Given the description of an element on the screen output the (x, y) to click on. 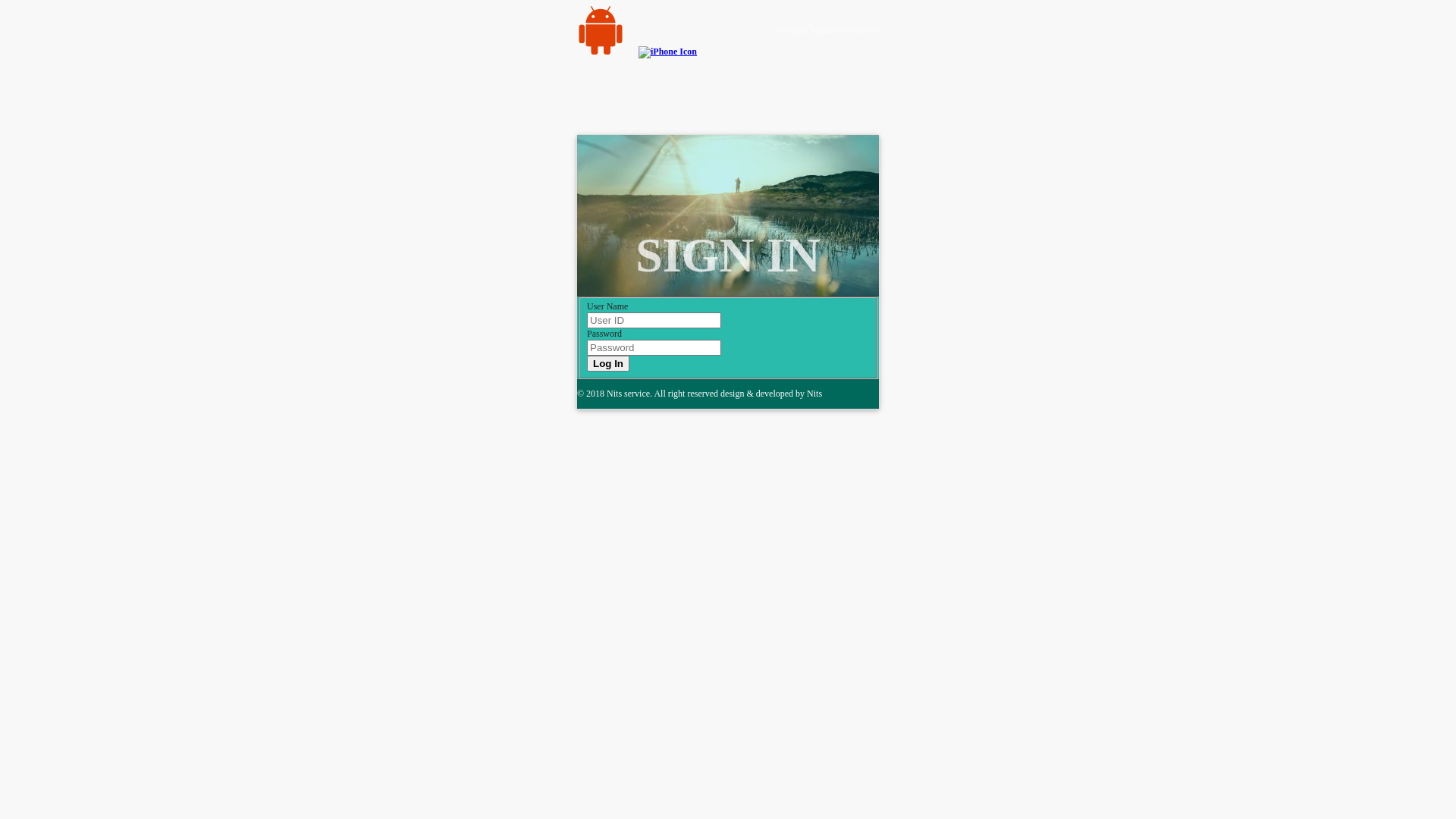
Log In Element type: text (607, 363)
